Given the description of an element on the screen output the (x, y) to click on. 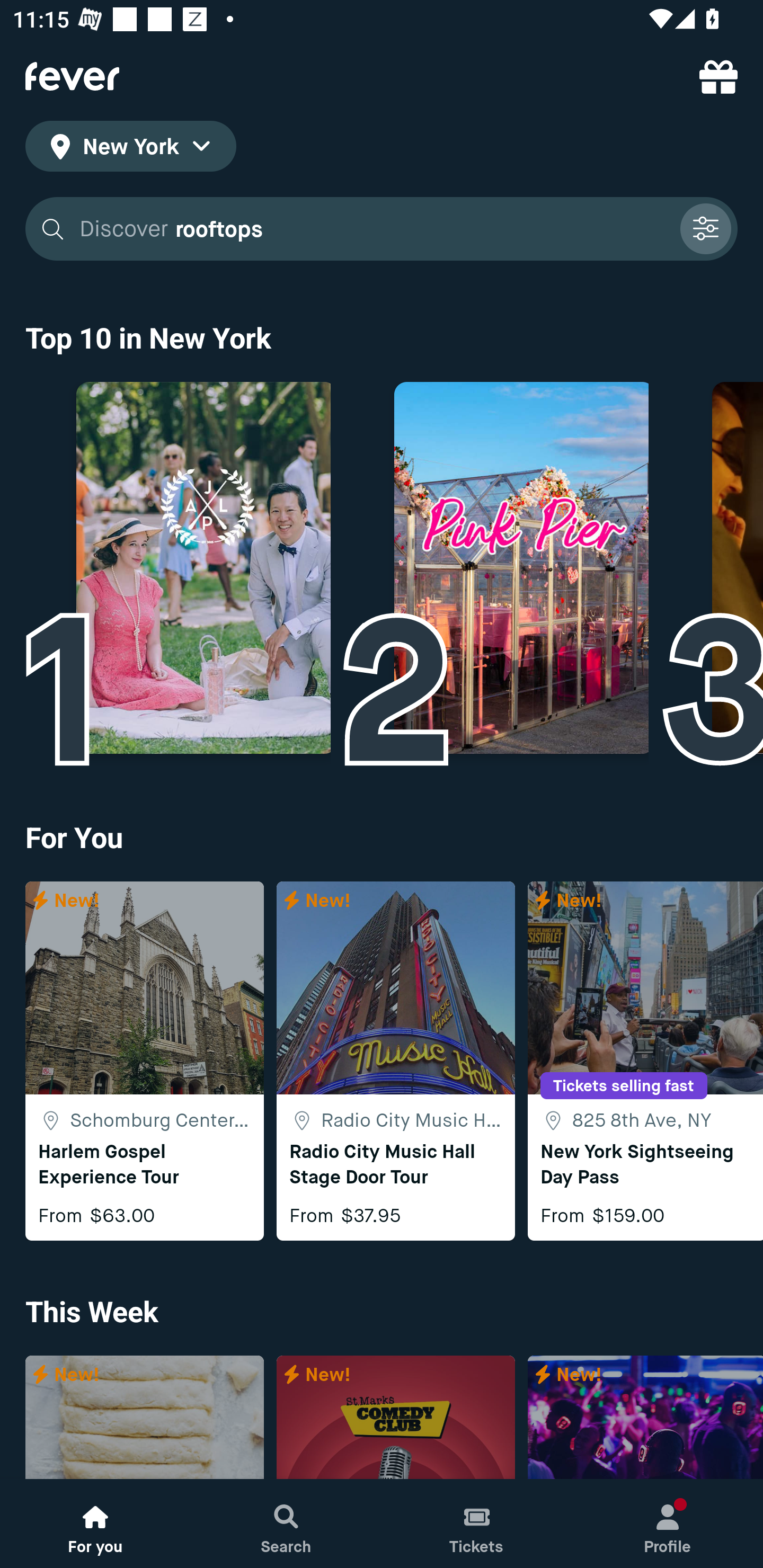
referral (718, 75)
location icon New York location icon (130, 149)
Discover rooftops (381, 228)
Discover rooftops (373, 228)
Search (285, 1523)
Tickets (476, 1523)
Profile, New notification Profile (667, 1523)
